Given the description of an element on the screen output the (x, y) to click on. 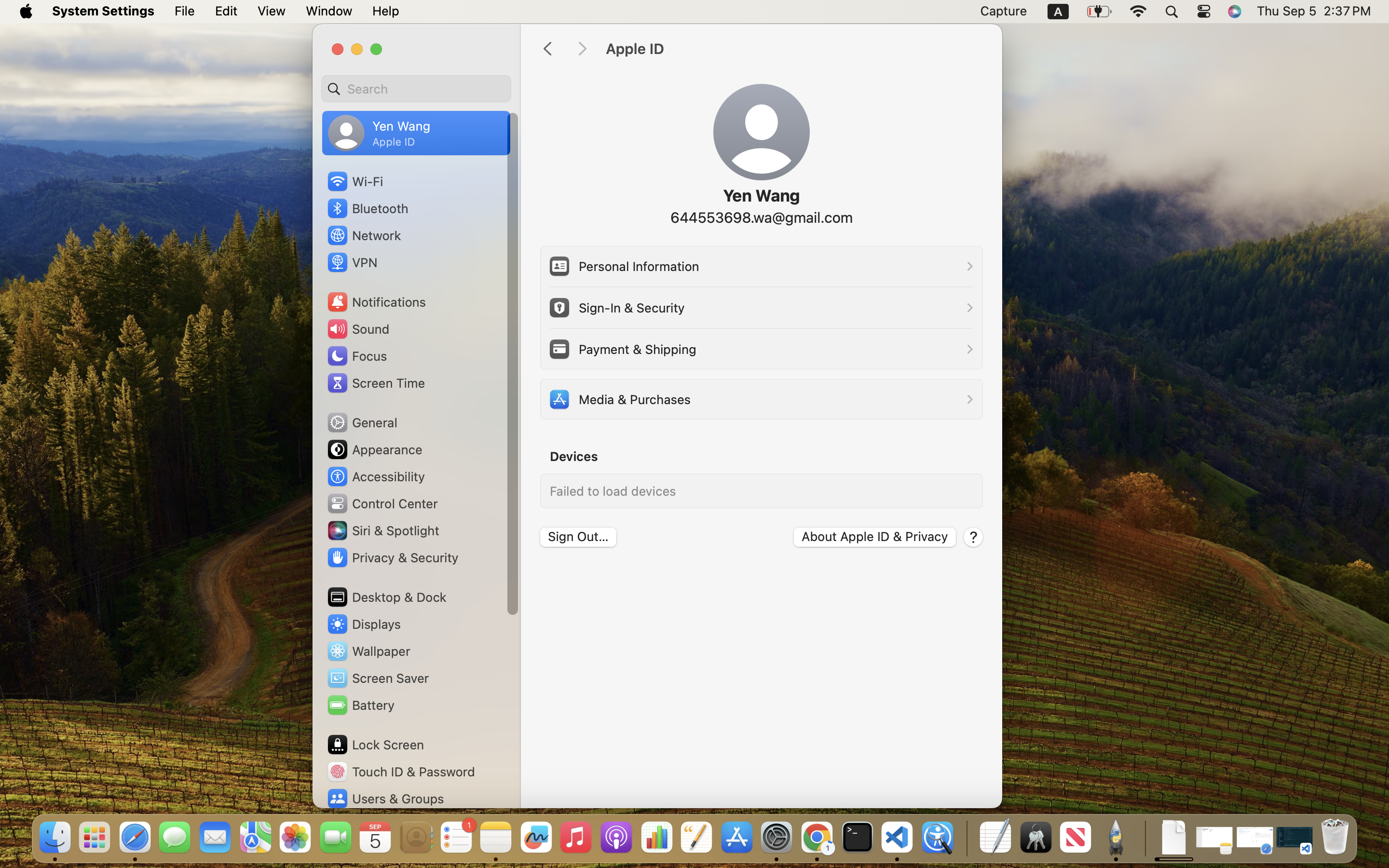
Displays Element type: AXStaticText (363, 623)
Yen Wang Element type: AXStaticText (760, 195)
Screen Time Element type: AXStaticText (375, 382)
VPN Element type: AXStaticText (351, 261)
Battery Element type: AXStaticText (360, 704)
